Given the description of an element on the screen output the (x, y) to click on. 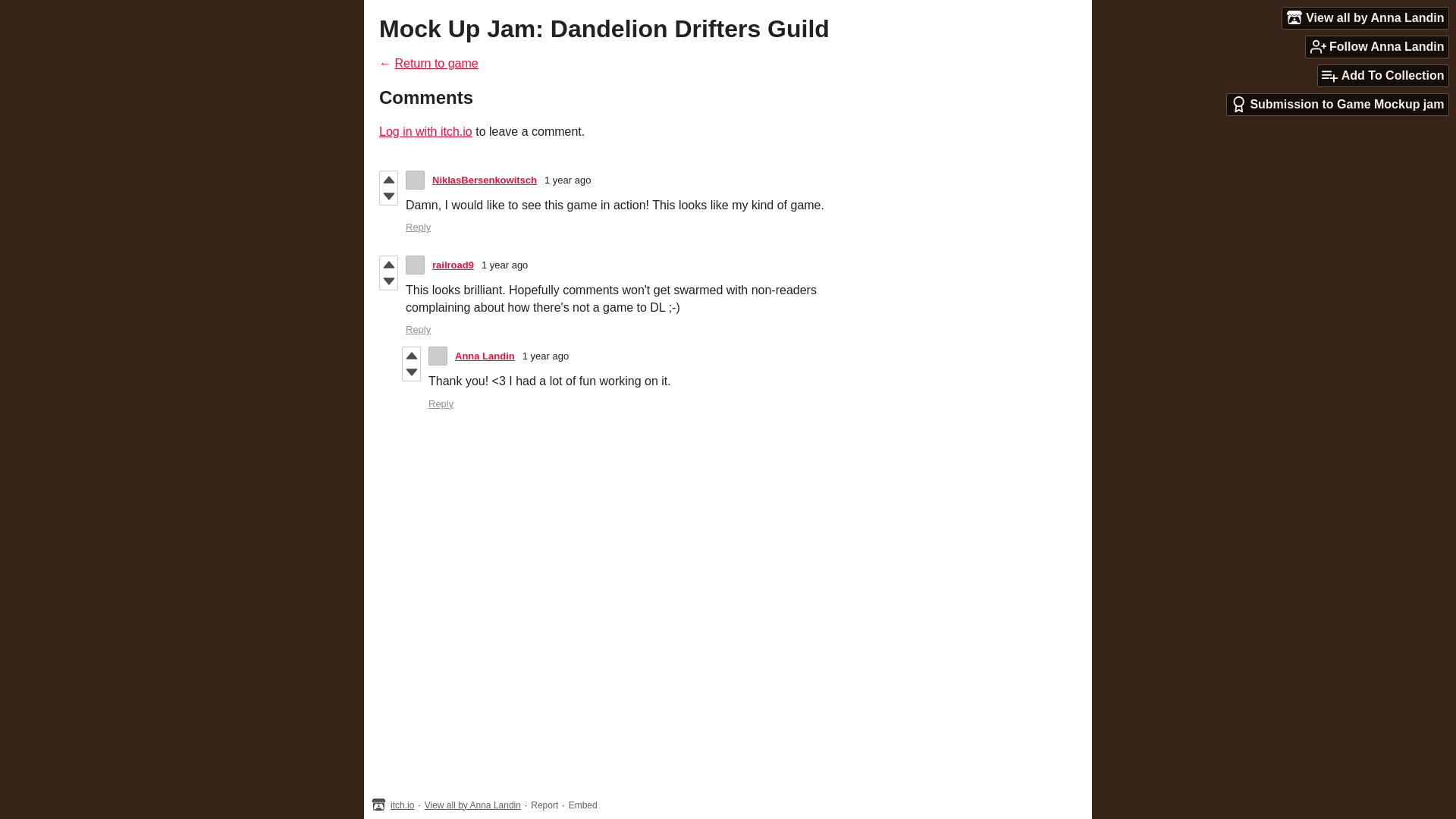
1 year ago (504, 265)
Follow Anna Landin (1377, 46)
Anna Landin (484, 355)
Vote up (411, 355)
2023-04-17 09:16:05 (567, 179)
Vote up (388, 179)
Report (544, 804)
Vote down (388, 196)
View all by Anna Landin (473, 804)
itch.io (401, 804)
